Given the description of an element on the screen output the (x, y) to click on. 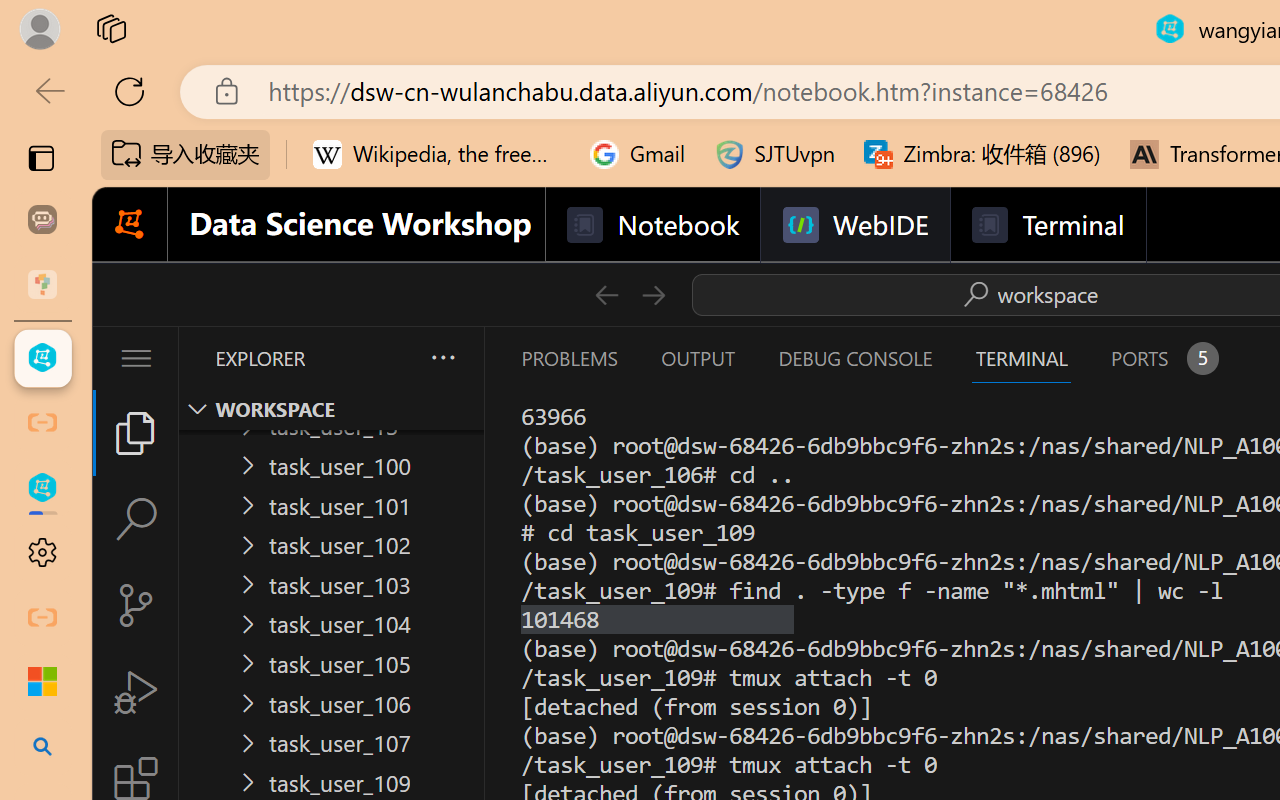
Terminal (1046, 225)
Views and More Actions... (442, 357)
Explorer (Ctrl+Shift+E) (135, 432)
Go Back (Alt+LeftArrow) (605, 294)
wangyian_webcrawler - DSW (42, 487)
Explorer Section: workspace (331, 409)
